Given the description of an element on the screen output the (x, y) to click on. 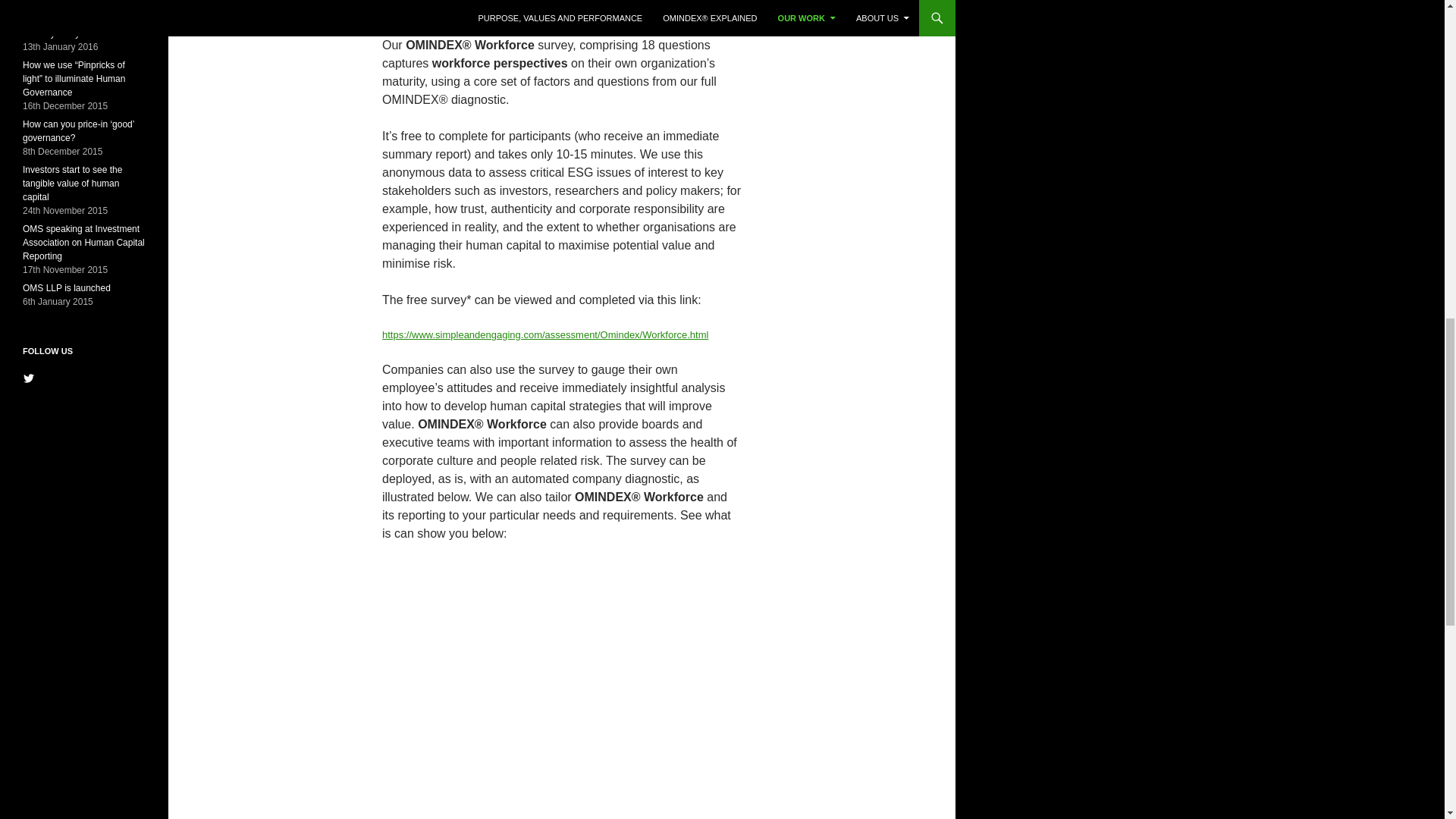
OMS LLP is launched (66, 287)
Investors start to see the tangible value of human capital (72, 183)
Seeking True Alpha through Maturity Analysis (79, 26)
